Given the description of an element on the screen output the (x, y) to click on. 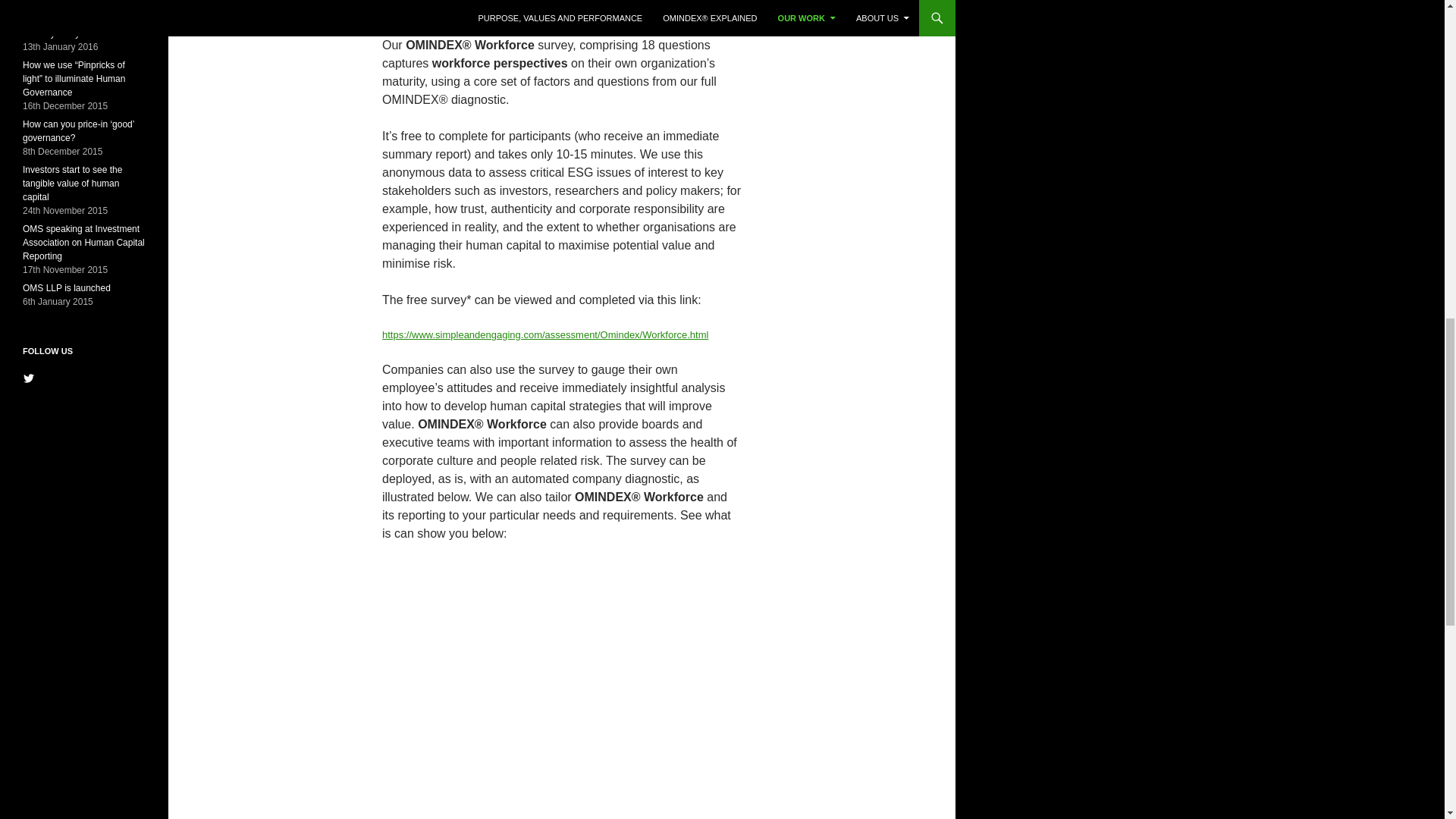
OMS LLP is launched (66, 287)
Investors start to see the tangible value of human capital (72, 183)
Seeking True Alpha through Maturity Analysis (79, 26)
